Given the description of an element on the screen output the (x, y) to click on. 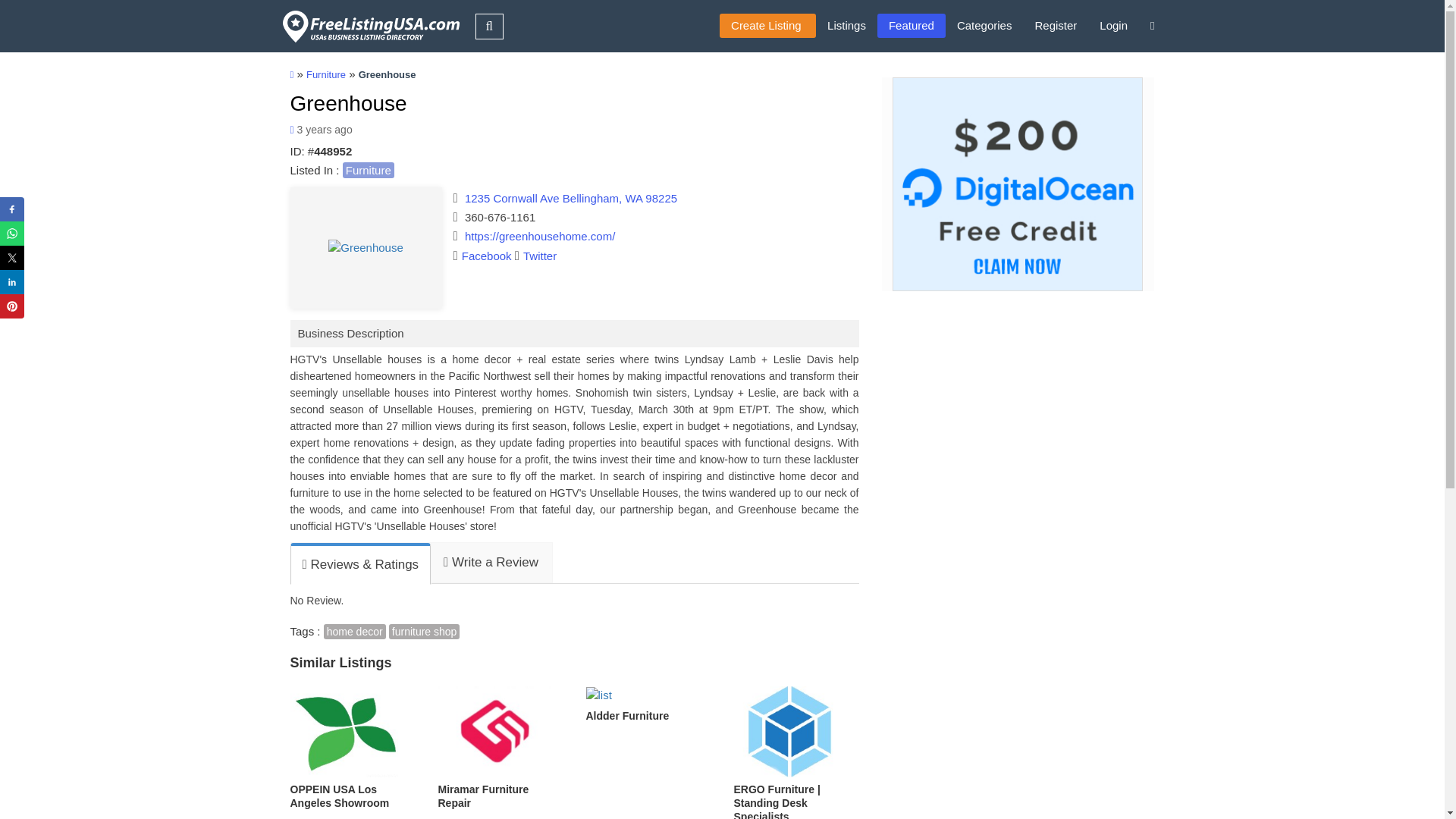
OPPEIN USA Los Angeles Showroom (351, 747)
1235 Cornwall Ave Bellingham, WA 98225 (570, 197)
furniture shop (424, 631)
Aldder Furniture (647, 704)
Facebook (482, 255)
Create Listing (767, 25)
Greenhouse (347, 103)
Furniture (325, 74)
Login (1112, 25)
Register (1055, 25)
